Given the description of an element on the screen output the (x, y) to click on. 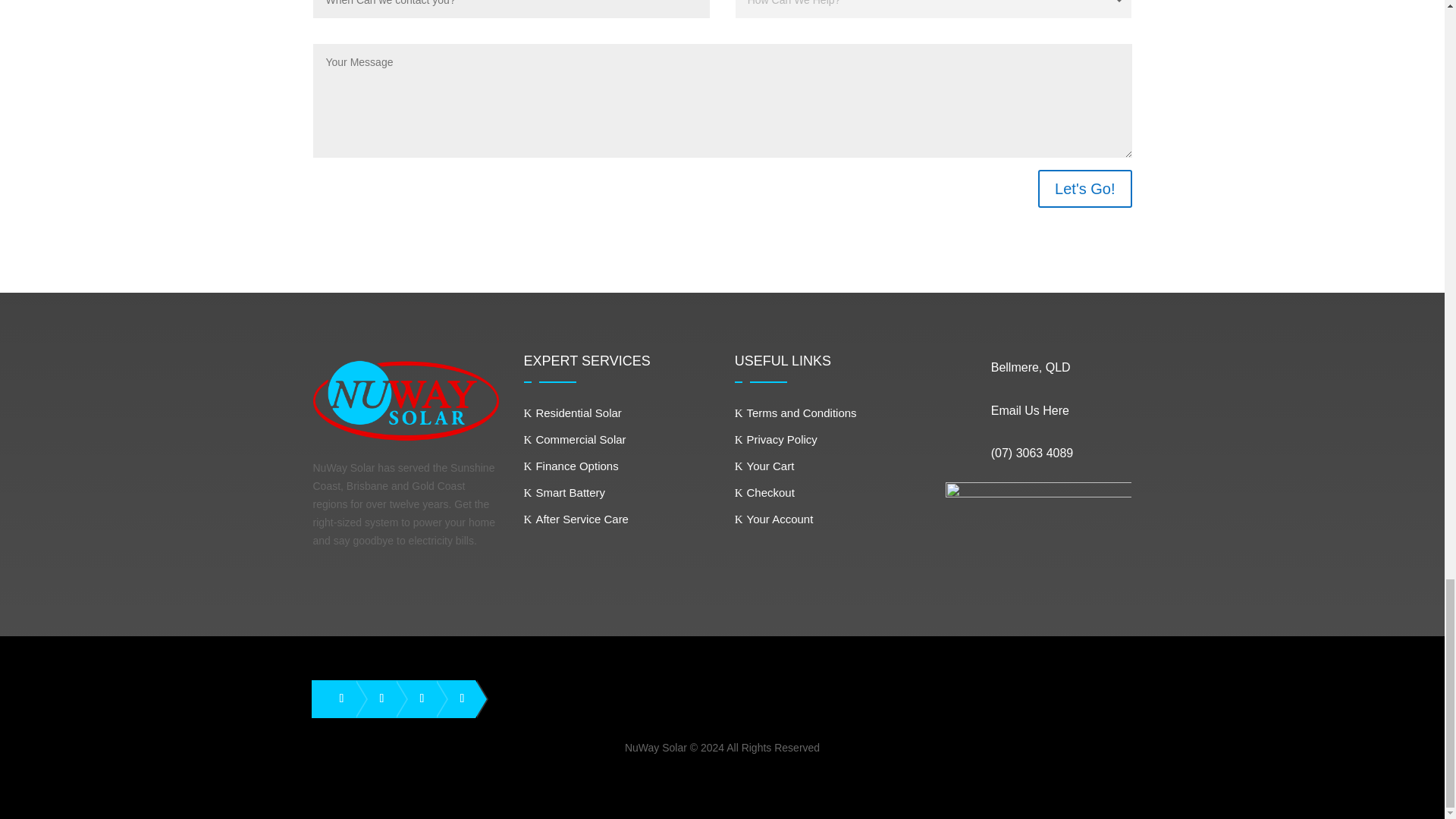
cec-member-logo white (1038, 528)
Let's Go! (1084, 188)
After Service Care (576, 518)
Follow on Instagram (415, 698)
Finance Options (571, 465)
Your Cart (764, 465)
Follow on LinkedIn (374, 698)
Commercial Solar (575, 439)
Email Us Here (1029, 410)
NuWay Logo WEB (406, 400)
